Given the description of an element on the screen output the (x, y) to click on. 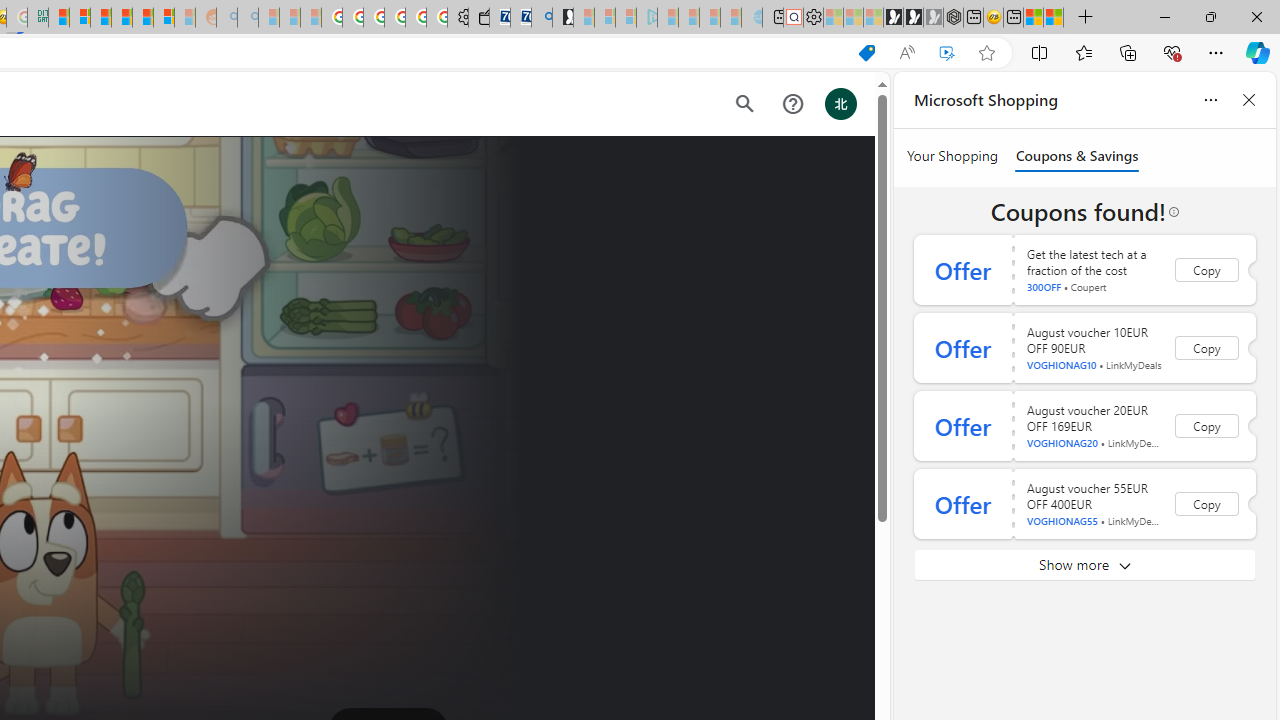
This site has coupons! Shopping in Microsoft Edge (867, 53)
Microsoft account | Privacy - Sleeping (625, 17)
Help Center (792, 103)
Expert Portfolios (121, 17)
Microsoft Start - Sleeping (710, 17)
DITOGAMES AG Imprint (38, 17)
